Given the description of an element on the screen output the (x, y) to click on. 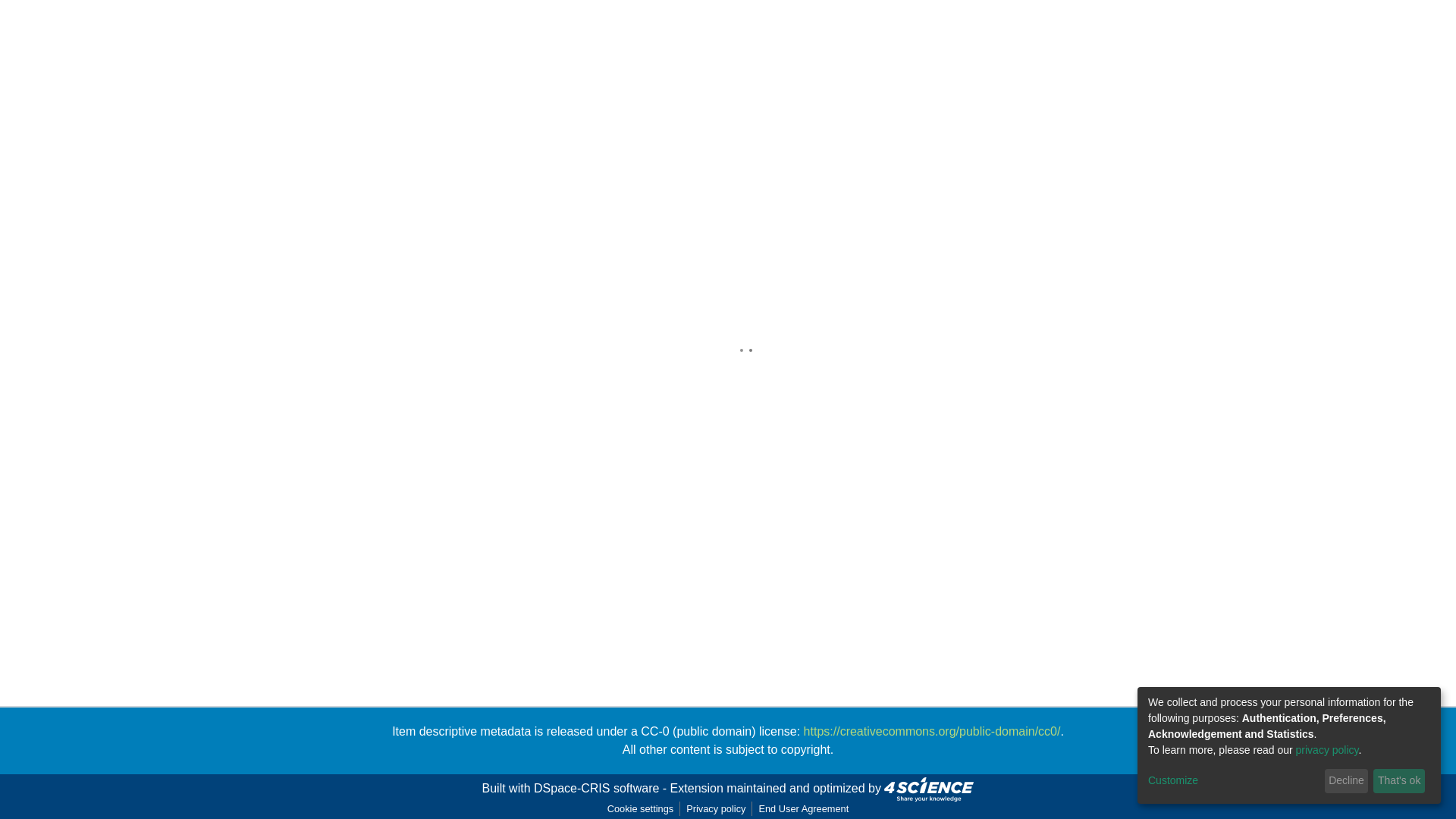
Decline (1346, 781)
End User Agreement (803, 808)
Cookie settings (640, 808)
DSpace-CRIS software (596, 788)
Customize (1233, 780)
That's ok (1399, 781)
privacy policy (1326, 749)
Privacy policy (715, 808)
